Given the description of an element on the screen output the (x, y) to click on. 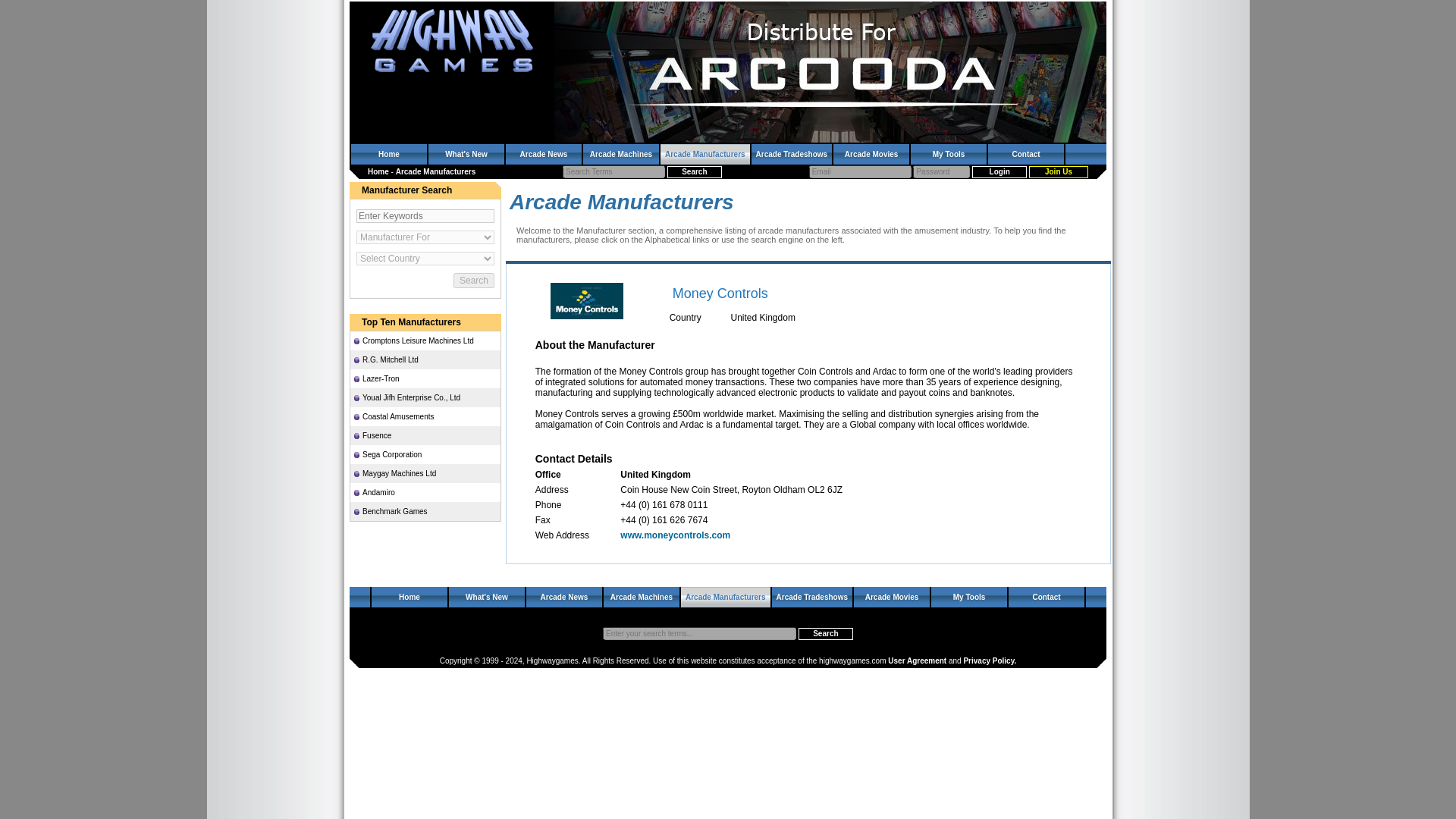
User Agreement (917, 660)
Arcade Manufacturers (725, 597)
Home (408, 597)
Arcade Manufacturers (705, 154)
Login (999, 172)
www.moneycontrols.com (675, 534)
Home (378, 171)
Contact (1026, 154)
Arcade Movies (891, 597)
Search (694, 172)
Andamiro (428, 492)
Fusence (428, 435)
Arcade Machines (621, 154)
What's New (465, 154)
